Given the description of an element on the screen output the (x, y) to click on. 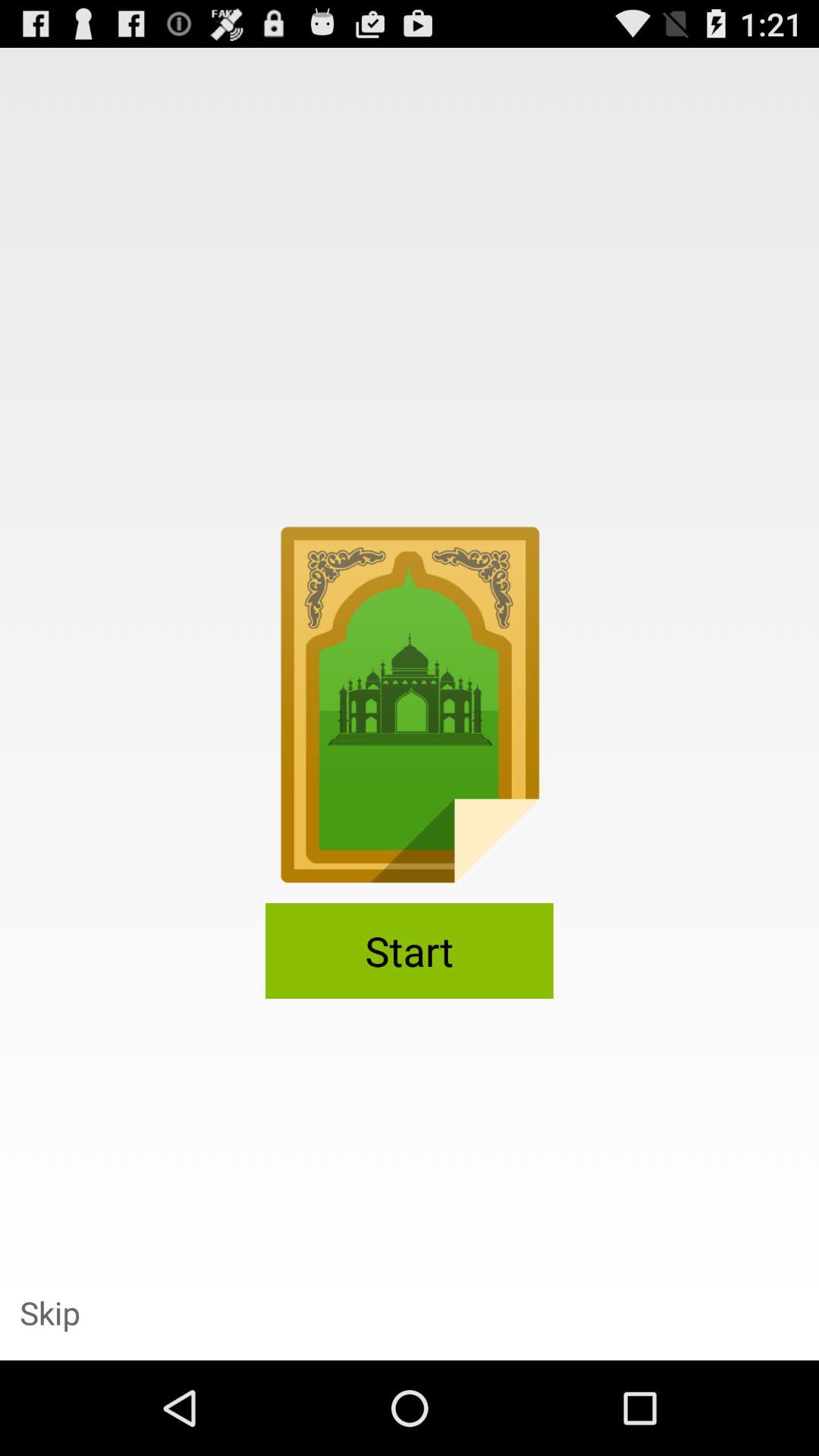
select the start icon (409, 950)
